Given the description of an element on the screen output the (x, y) to click on. 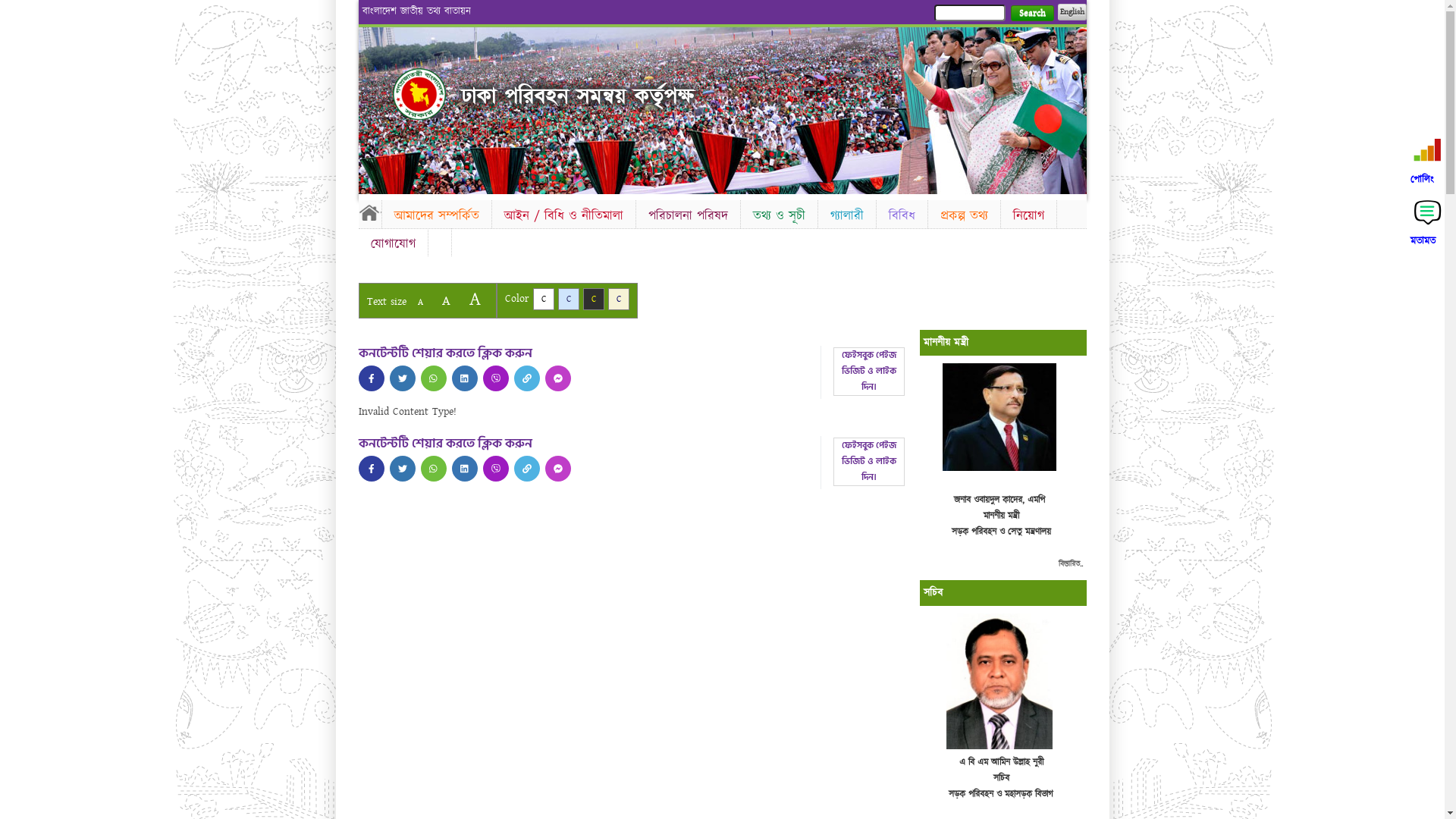
English Element type: text (1071, 11)
Home Element type: hover (418, 93)
C Element type: text (618, 299)
C Element type: text (542, 299)
Search Element type: text (1031, 13)
Home Element type: hover (368, 211)
A Element type: text (474, 298)
C Element type: text (592, 299)
C Element type: text (568, 299)
A Element type: text (445, 300)
A Element type: text (419, 301)
